Given the description of an element on the screen output the (x, y) to click on. 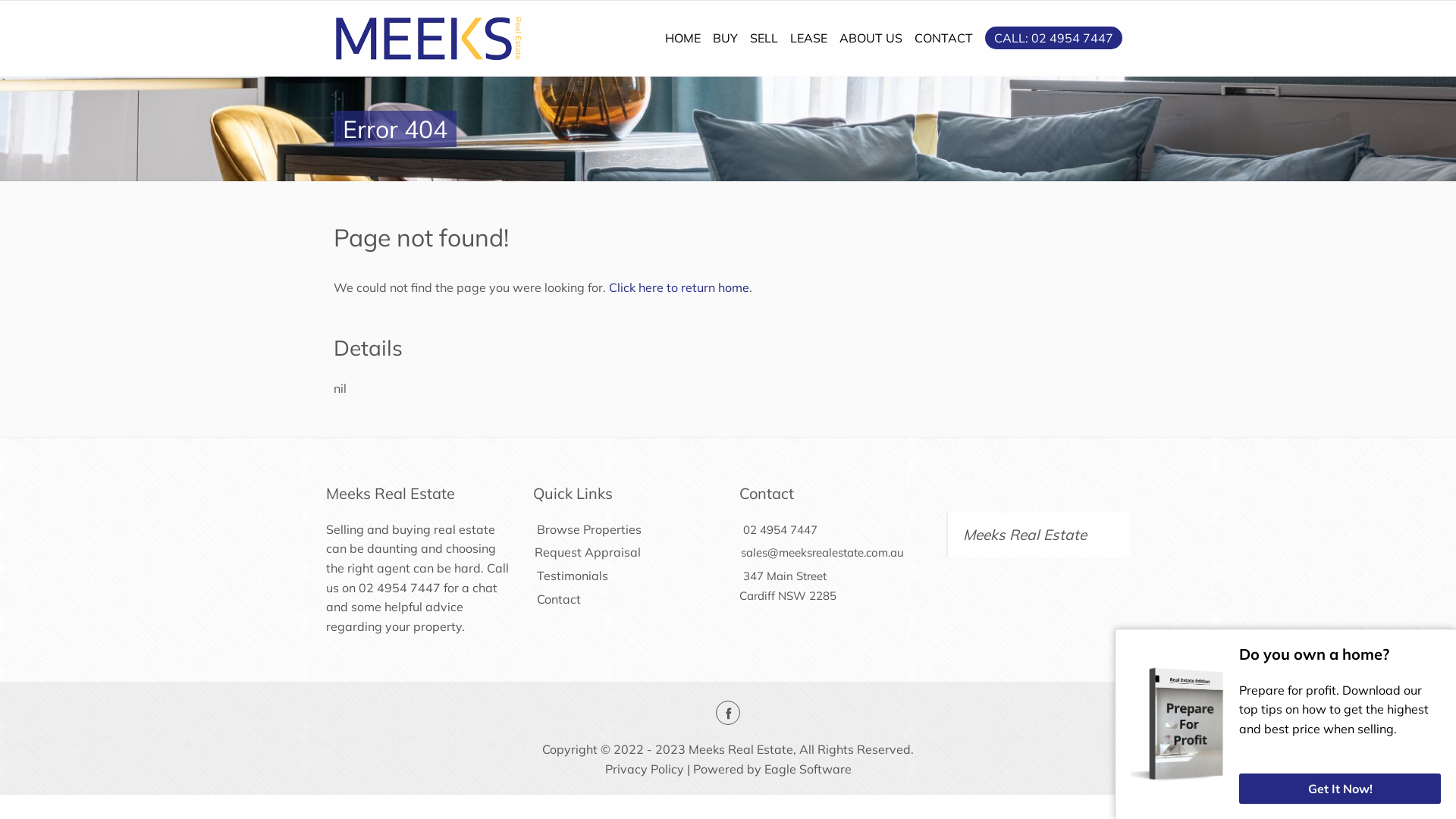
Request Appraisal Element type: text (586, 551)
Privacy Policy Element type: text (644, 768)
BUY Element type: text (724, 37)
02 4954 7447 Element type: text (780, 529)
Eagle Software Element type: text (807, 768)
HOME Element type: text (682, 37)
SELL Element type: text (763, 37)
Testimonials Element type: text (569, 575)
CONTACT Element type: text (943, 37)
Browse Properties Element type: text (586, 528)
Click here to return home Element type: text (678, 286)
CALL: 02 4954 7447 Element type: text (1053, 37)
LEASE Element type: text (808, 37)
Contact Element type: text (556, 598)
sales@meeksrealestate.com.au Element type: text (821, 552)
Meeks Real Estate Element type: text (1024, 534)
ABOUT US Element type: text (870, 37)
Get It Now! Element type: text (1339, 788)
02 4954 7447 Element type: text (399, 587)
